Given the description of an element on the screen output the (x, y) to click on. 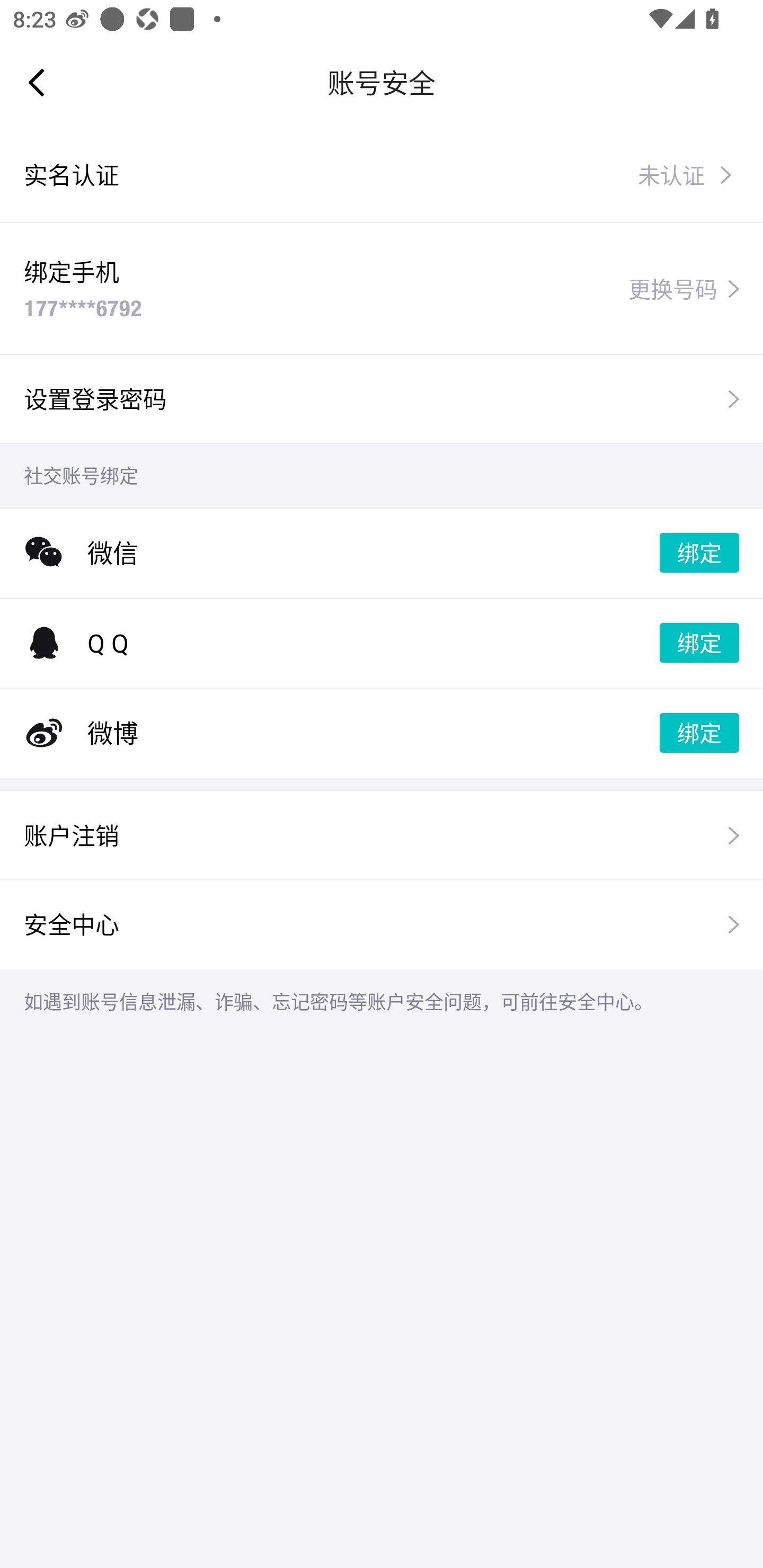
Navigate up (36, 82)
实名认证 未认证 (381, 174)
绑定手机 177****6792 更换号码 (381, 288)
设置登录密码 (381, 398)
微信 绑定 (381, 552)
Q Q 绑定 (381, 643)
微博 绑定 (381, 732)
账户注销 (381, 835)
安全中心 (381, 924)
